Given the description of an element on the screen output the (x, y) to click on. 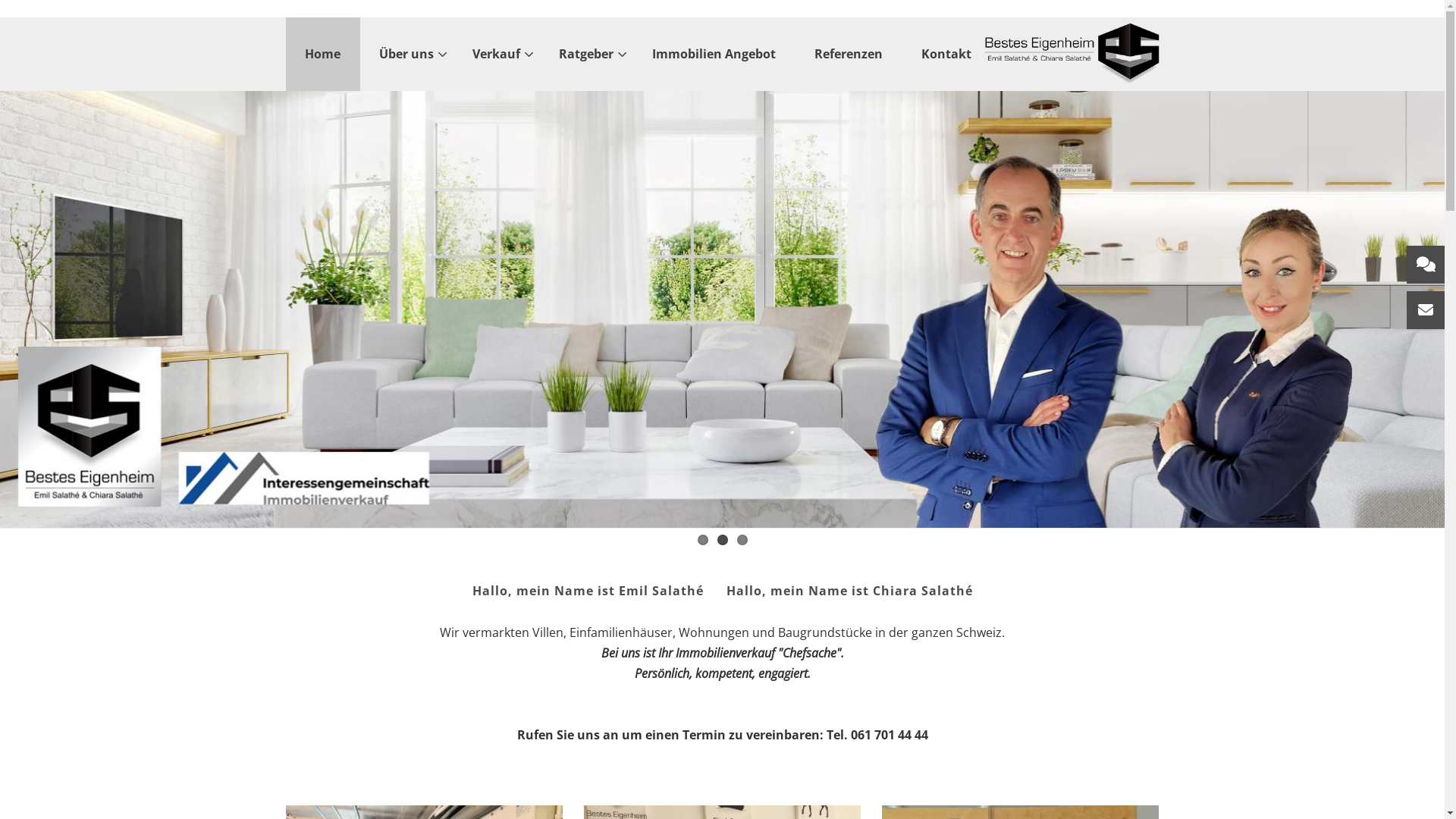
Verkauf Element type: text (495, 53)
Ratgeber Element type: text (585, 53)
1 Element type: text (702, 539)
Immobilien Angebot Element type: text (713, 53)
3 Element type: text (742, 539)
Kontakt Element type: text (945, 53)
Home Element type: text (322, 53)
Referenzen Element type: text (848, 53)
2 Element type: text (722, 539)
